Given the description of an element on the screen output the (x, y) to click on. 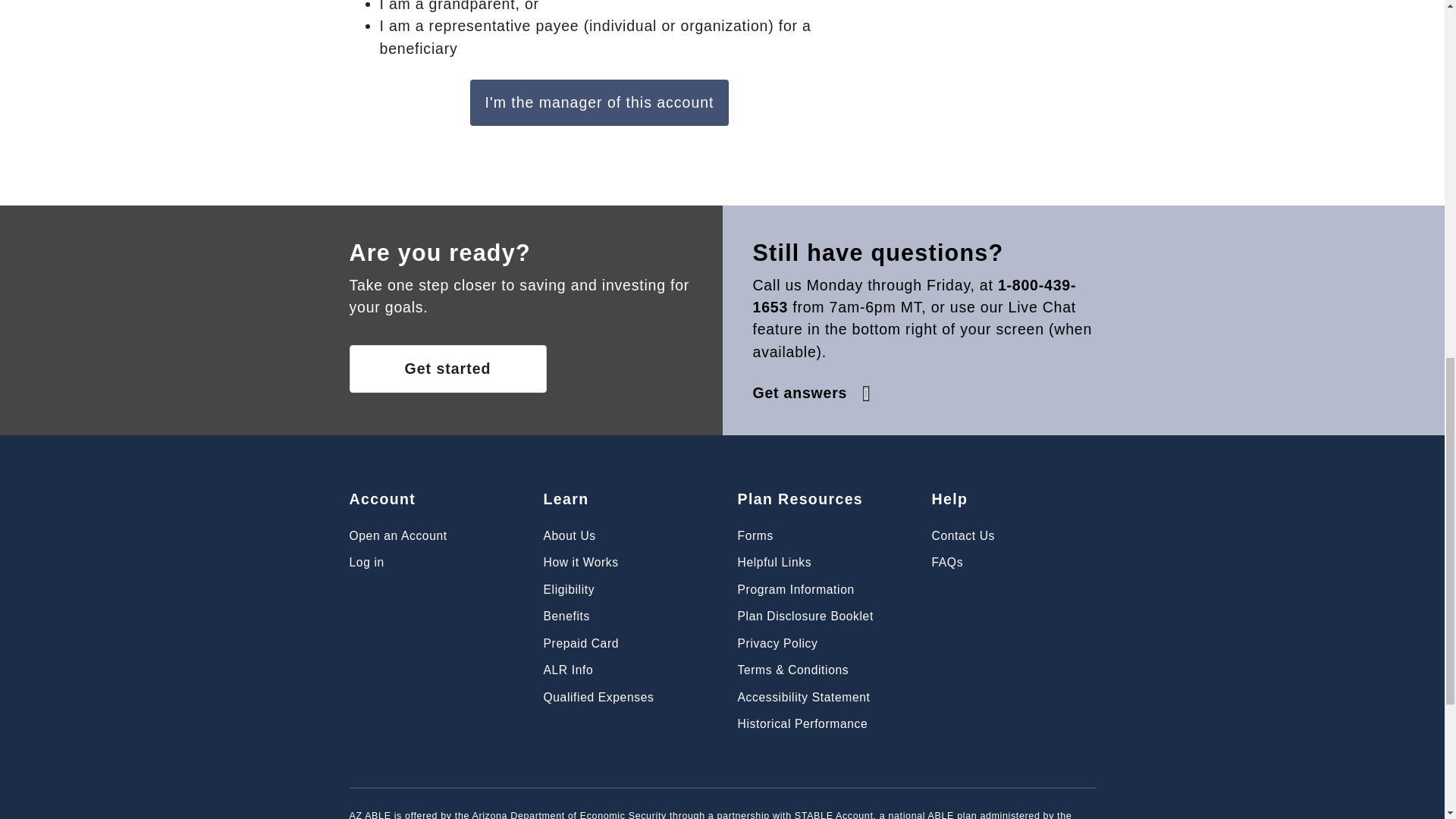
Open an Account (397, 535)
Historical Performance (801, 723)
Prepaid Card (580, 643)
Get answers (812, 392)
ALR Info (567, 669)
Program Information (794, 589)
Helpful Links (773, 562)
Eligibility (568, 589)
Accessibility Statement (802, 697)
Qualified Expenses (598, 697)
